Given the description of an element on the screen output the (x, y) to click on. 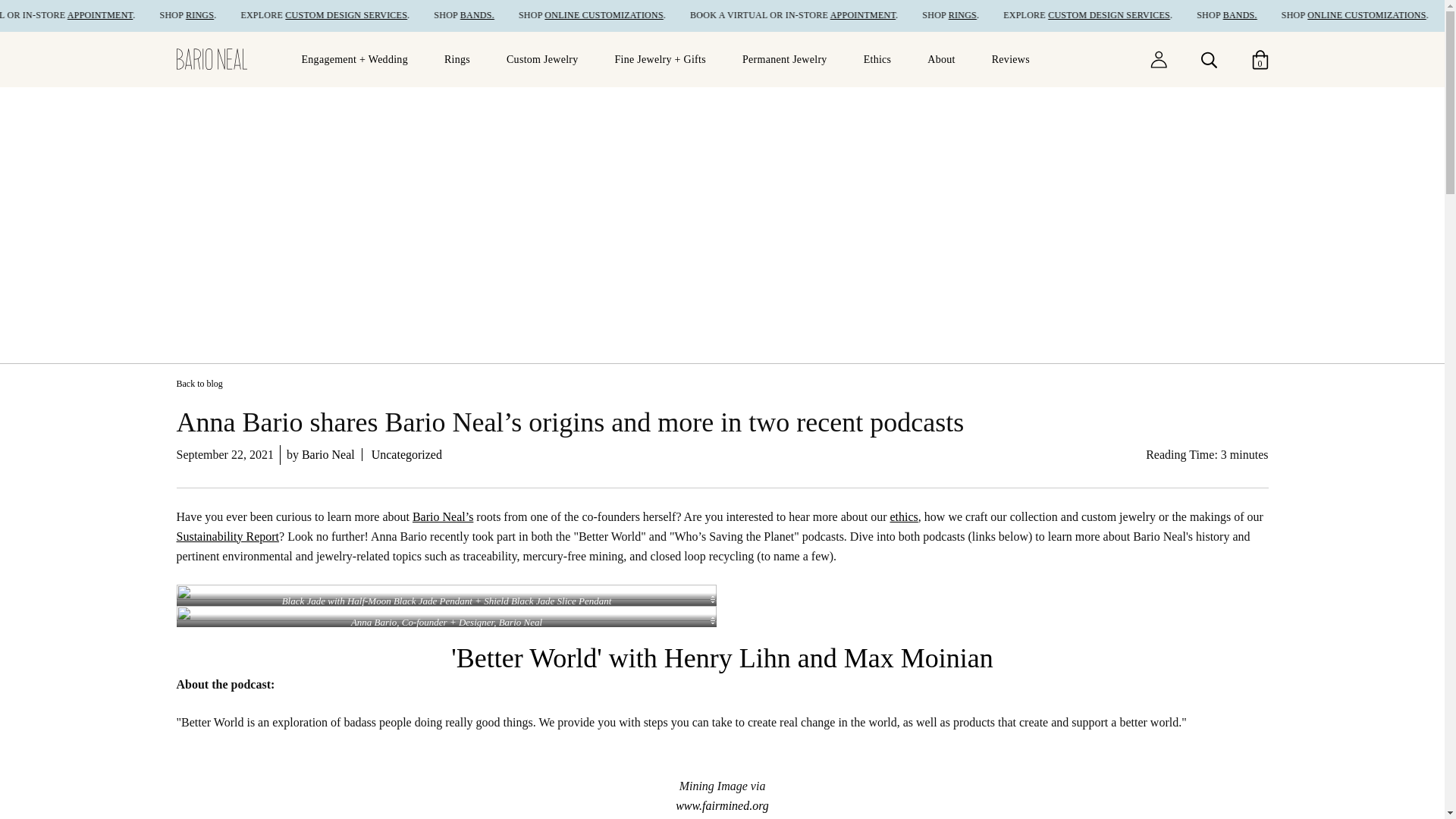
My Account (1158, 57)
CUSTOM DESIGN SERVICES (1173, 14)
CUSTOM DESIGN SERVICES (414, 14)
RINGS (268, 14)
RINGS (1027, 14)
APPOINTMENT (169, 14)
ONLINE CUSTOMIZATIONS (670, 14)
BANDS. (1303, 14)
APPOINTMENT (928, 14)
BANDS. (544, 14)
